Given the description of an element on the screen output the (x, y) to click on. 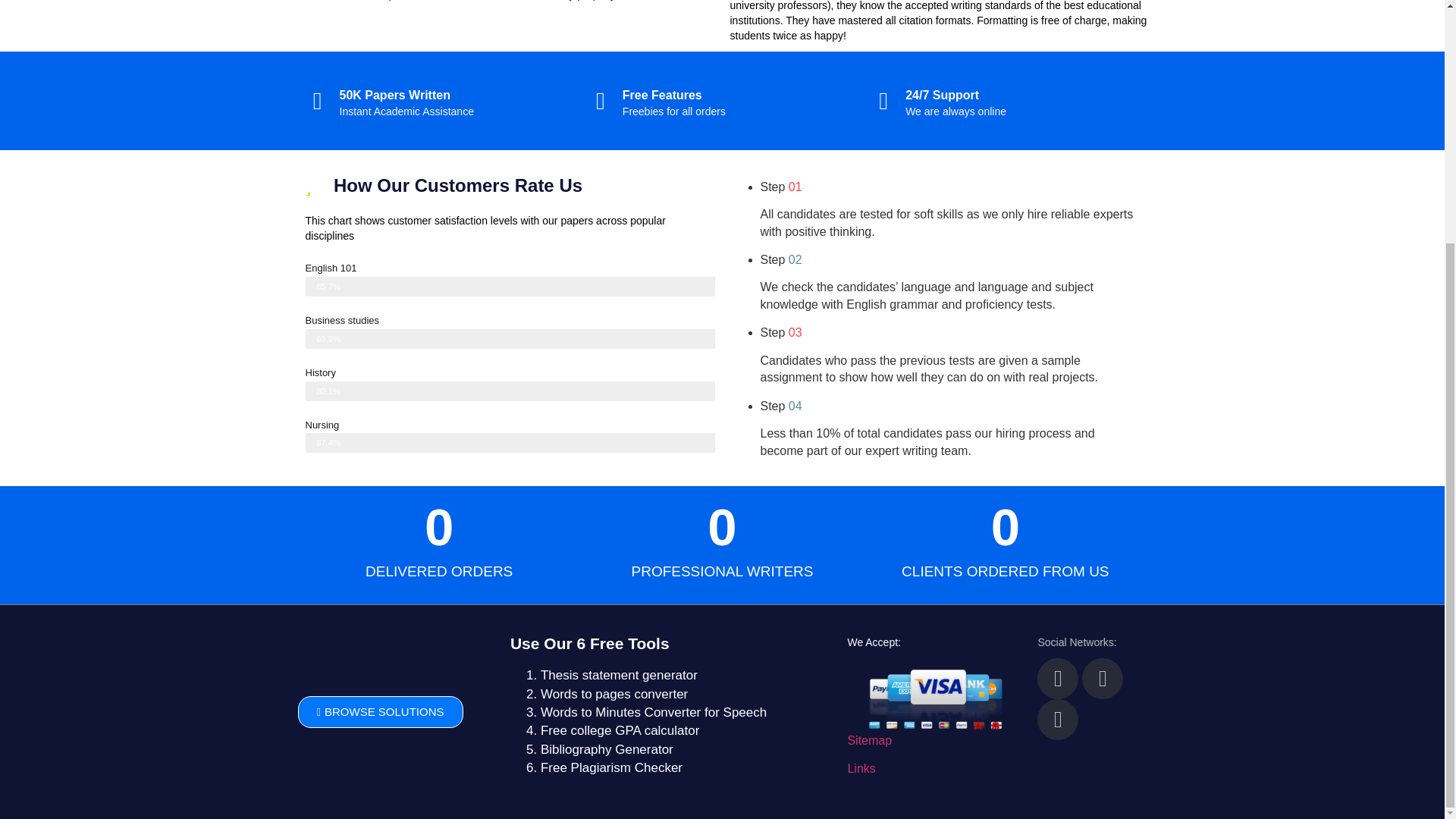
Sitemap (869, 739)
Thesis statement generator (618, 675)
Words to pages converter (613, 694)
BROWSE SOLUTIONS (380, 712)
Bibliography Generator (606, 749)
Free college GPA calculator (619, 730)
Links (861, 768)
Words to Minutes Converter for Speech (653, 712)
Free Plagiarism Checker (611, 767)
